Given the description of an element on the screen output the (x, y) to click on. 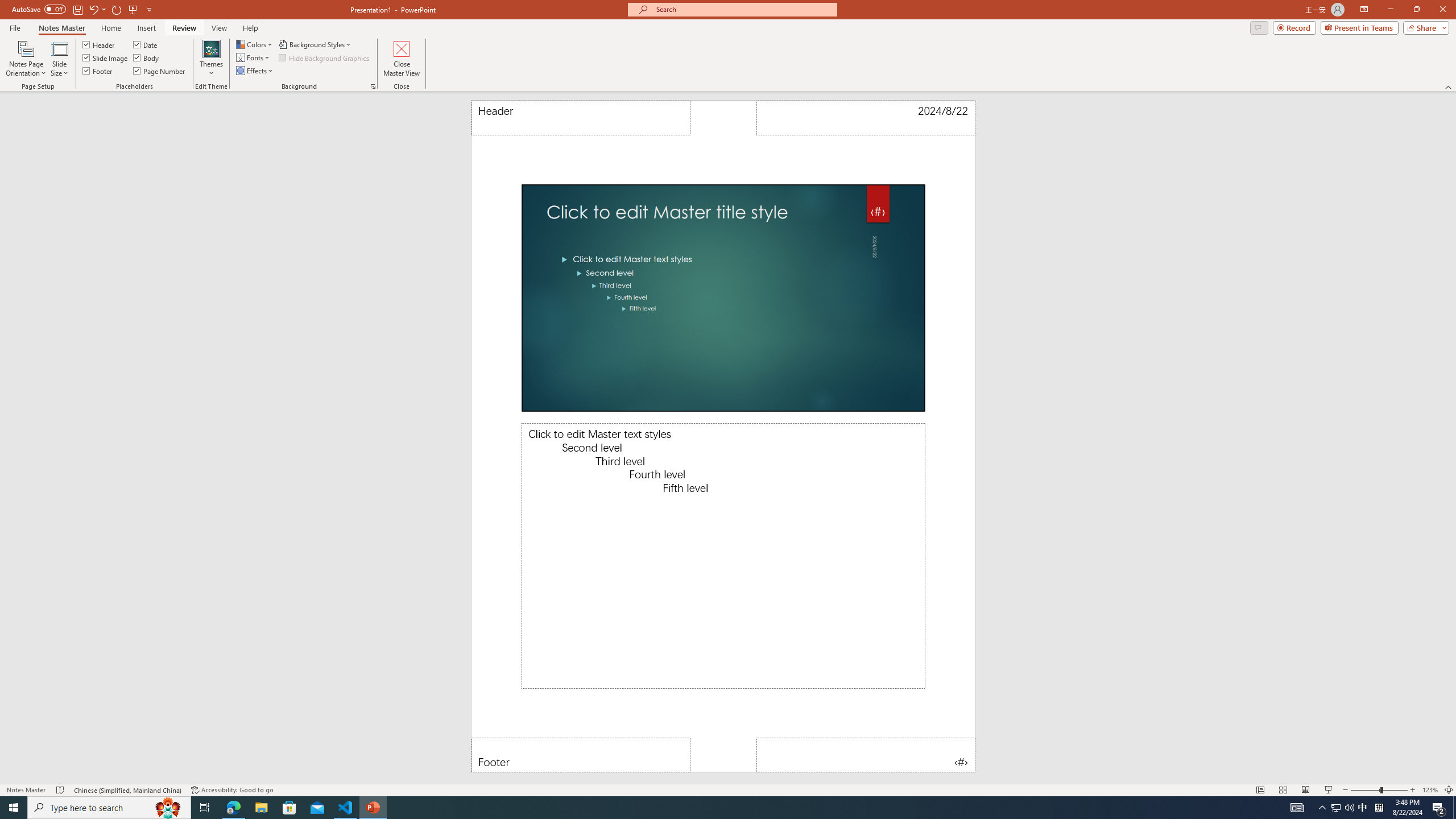
Footer (580, 754)
Slide Size (59, 58)
Hide Background Graphics (324, 56)
Body (147, 56)
Notes Master (61, 28)
